Given the description of an element on the screen output the (x, y) to click on. 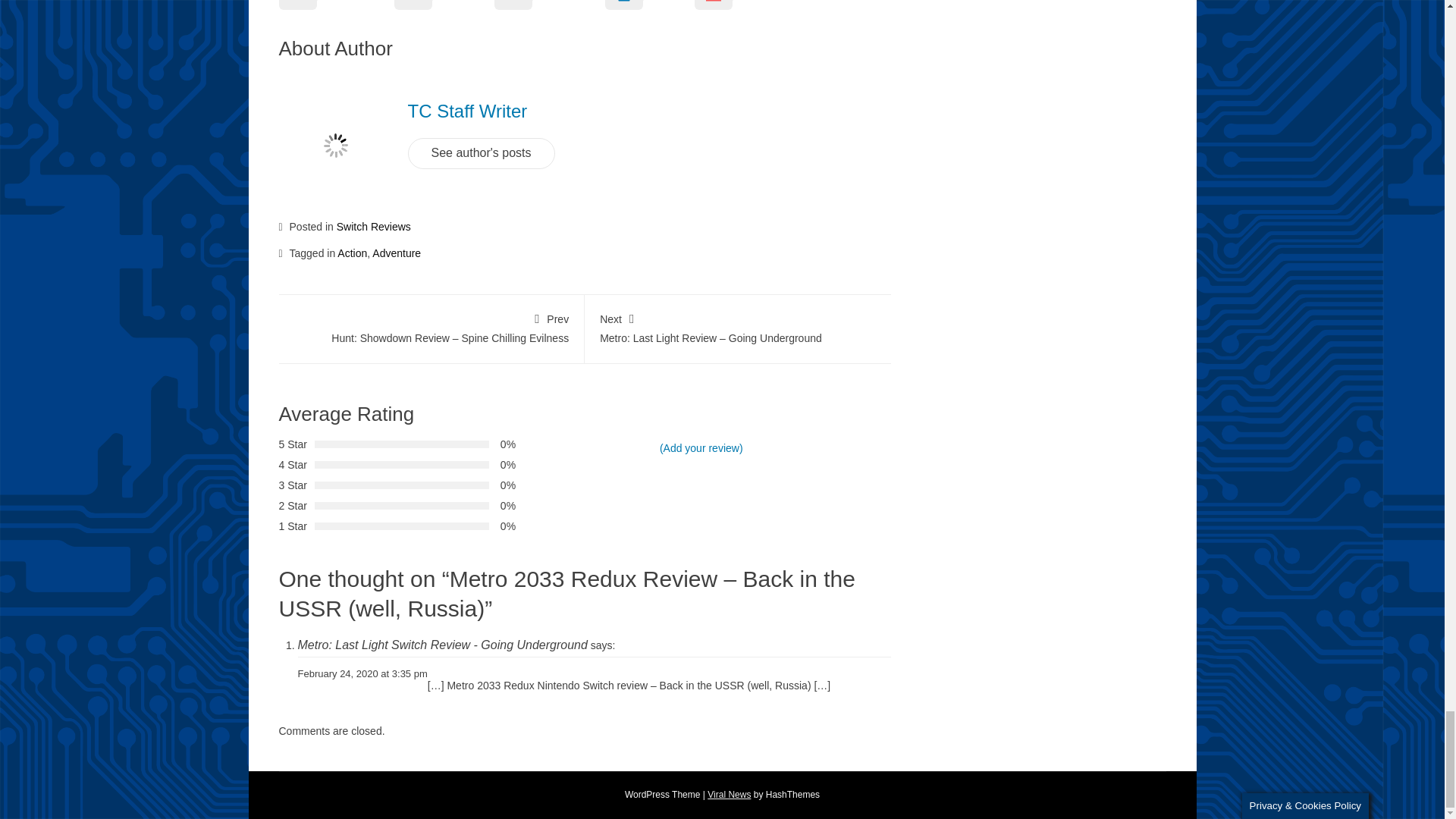
Twitter (444, 11)
Switch Reviews (373, 226)
See author's posts (480, 153)
LinkedIn (649, 11)
Adventure (396, 253)
TC Staff Writer (467, 110)
Action (351, 253)
Pinterest (550, 11)
Email (732, 11)
Download Viral News (729, 794)
Facebook (336, 11)
